Given the description of an element on the screen output the (x, y) to click on. 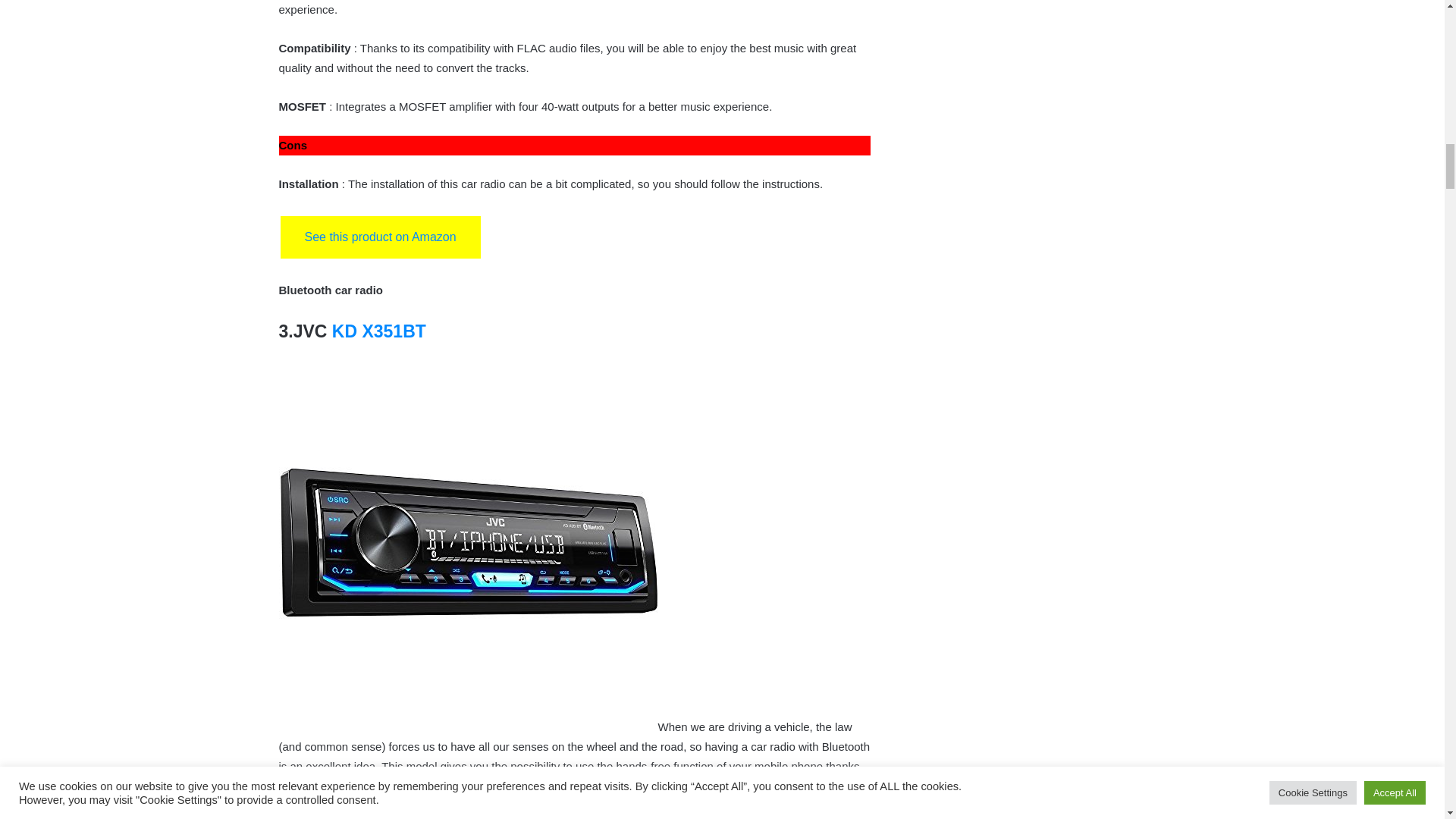
KD X351BT (378, 331)
See this product on Amazon (380, 237)
